Given the description of an element on the screen output the (x, y) to click on. 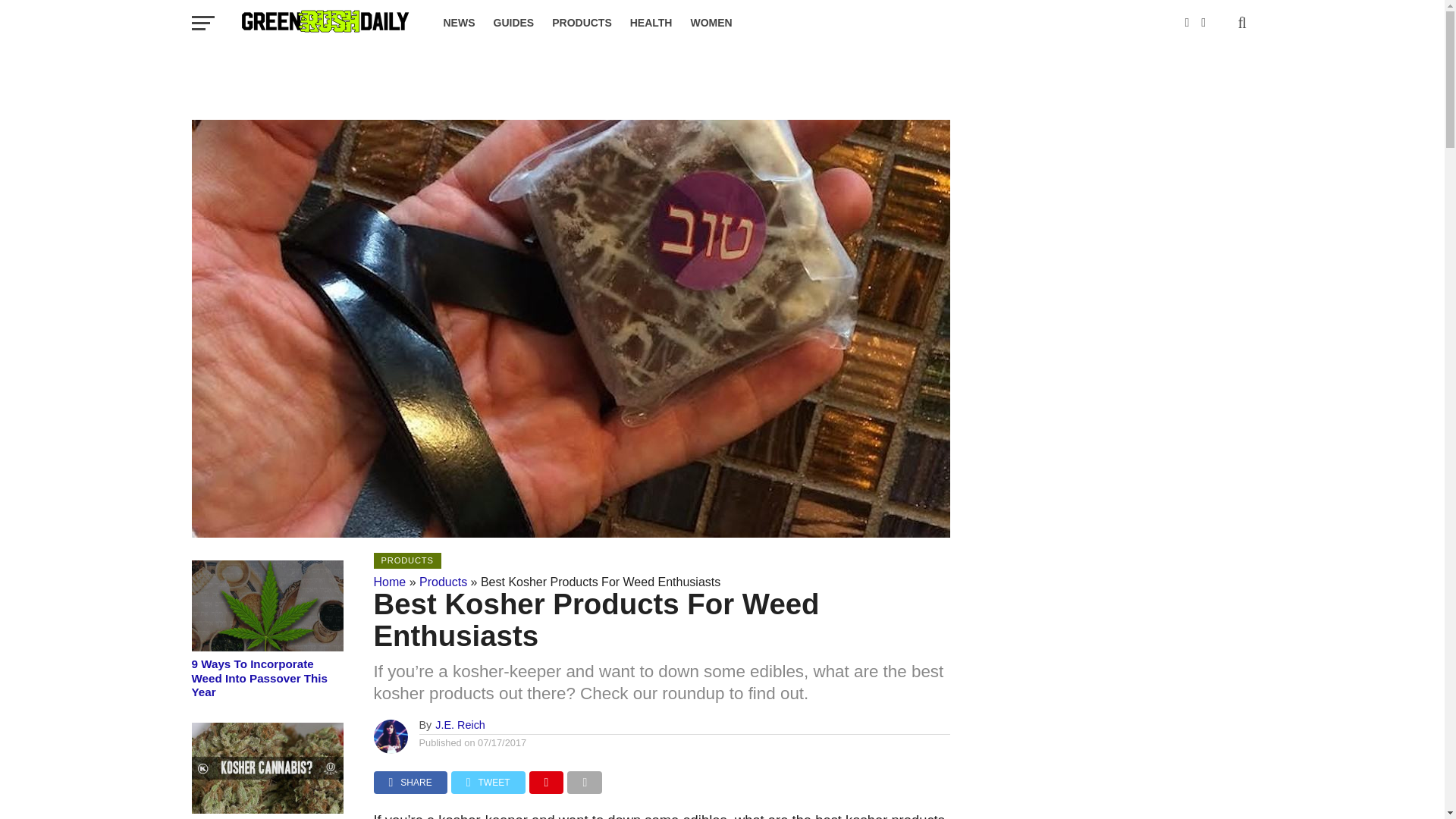
PRODUCTS (582, 22)
GUIDES (513, 22)
3rd party ad content (721, 79)
9 Ways To Incorporate Weed Into Passover This Year (266, 646)
Kosher Certified Cannabis is Fake Say Rabbis (266, 809)
HEALTH (651, 22)
NEWS (458, 22)
Posts by J.E. Reich (459, 725)
